Given the description of an element on the screen output the (x, y) to click on. 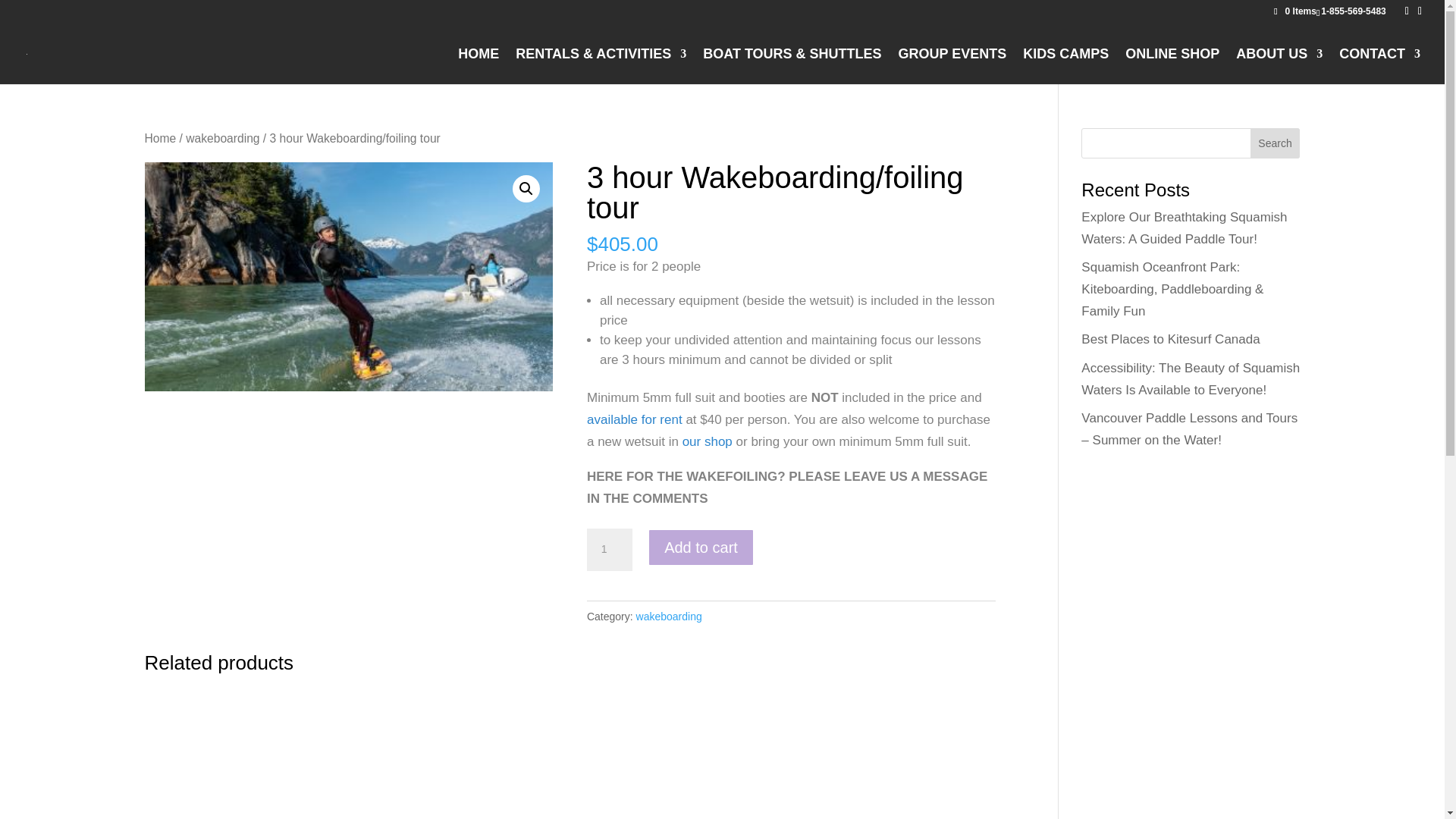
ONLINE SHOP (1172, 66)
1-855-569-5483 (1353, 10)
CONTACT (1380, 66)
Search (1275, 142)
KIDS CAMPS (1065, 66)
0 Items (1295, 10)
DSC08173 (348, 277)
HOME (478, 66)
ABOUT US (1279, 66)
1 (608, 549)
